Given the description of an element on the screen output the (x, y) to click on. 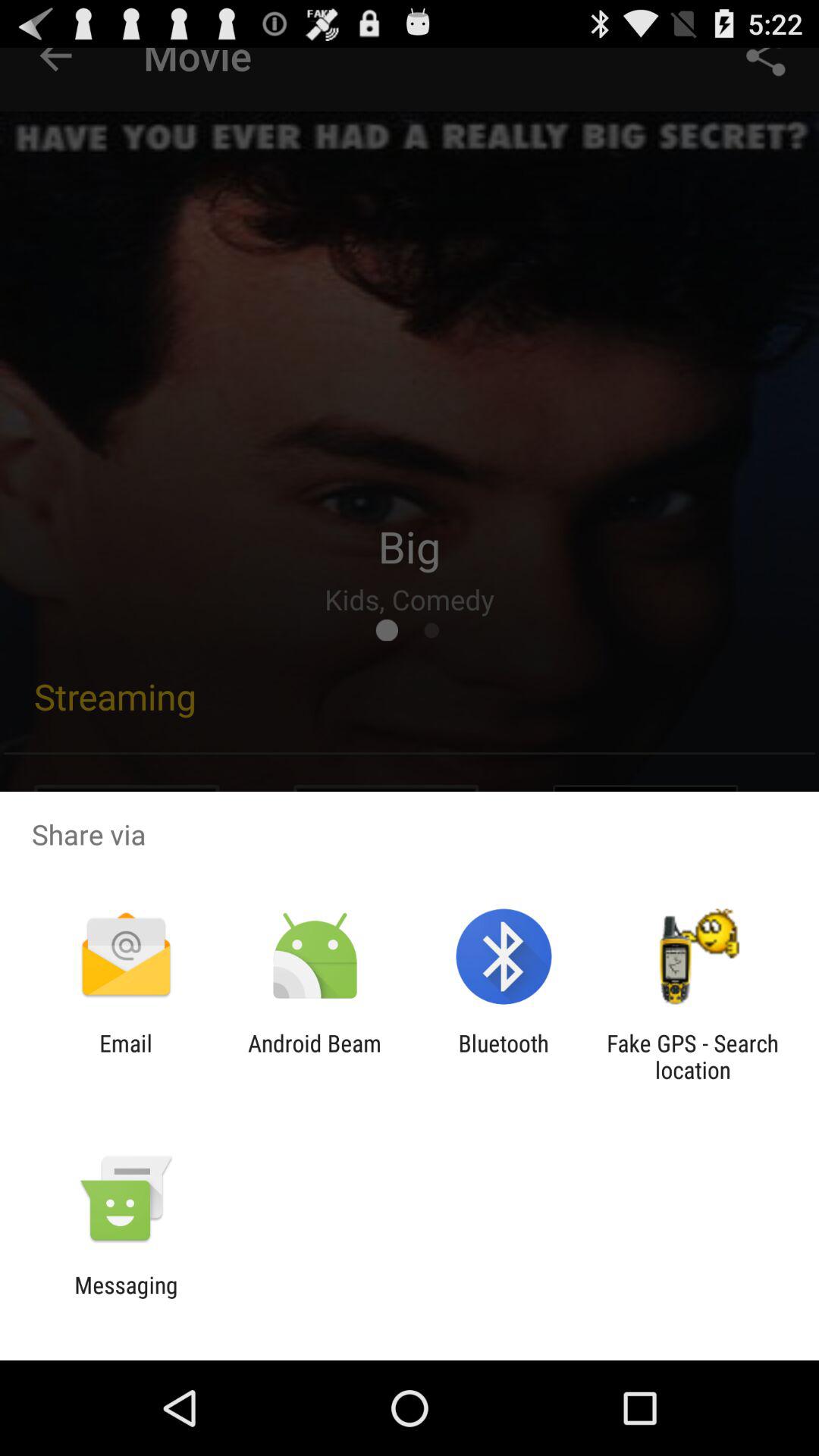
open the icon next to fake gps search app (503, 1056)
